Given the description of an element on the screen output the (x, y) to click on. 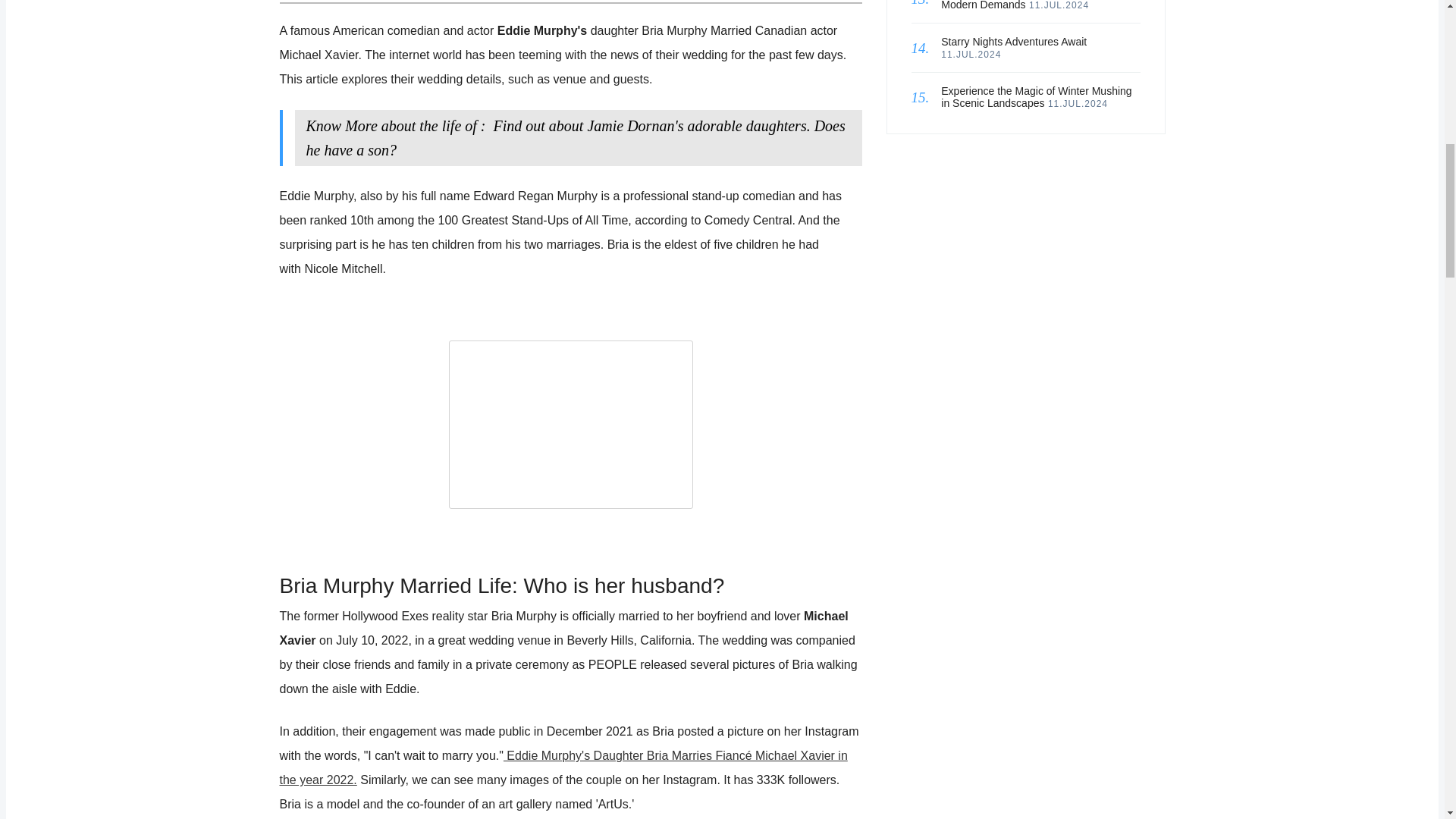
wed (570, 424)
